Given the description of an element on the screen output the (x, y) to click on. 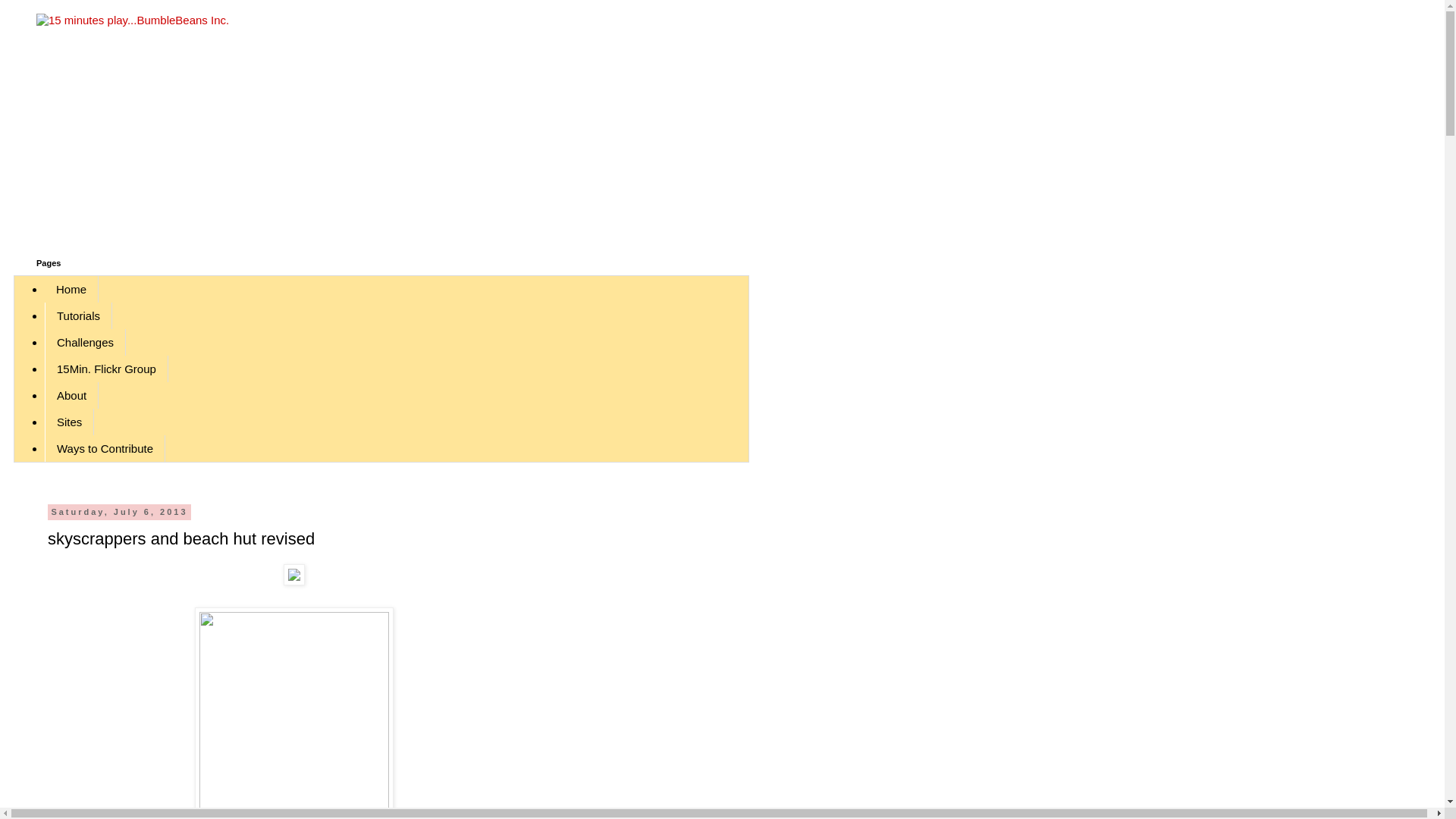
Ways to Contribute (105, 447)
Sites (69, 421)
About (72, 395)
Home (72, 289)
Tutorials (78, 315)
15Min. Flickr Group (106, 368)
Challenges (85, 342)
